Given the description of an element on the screen output the (x, y) to click on. 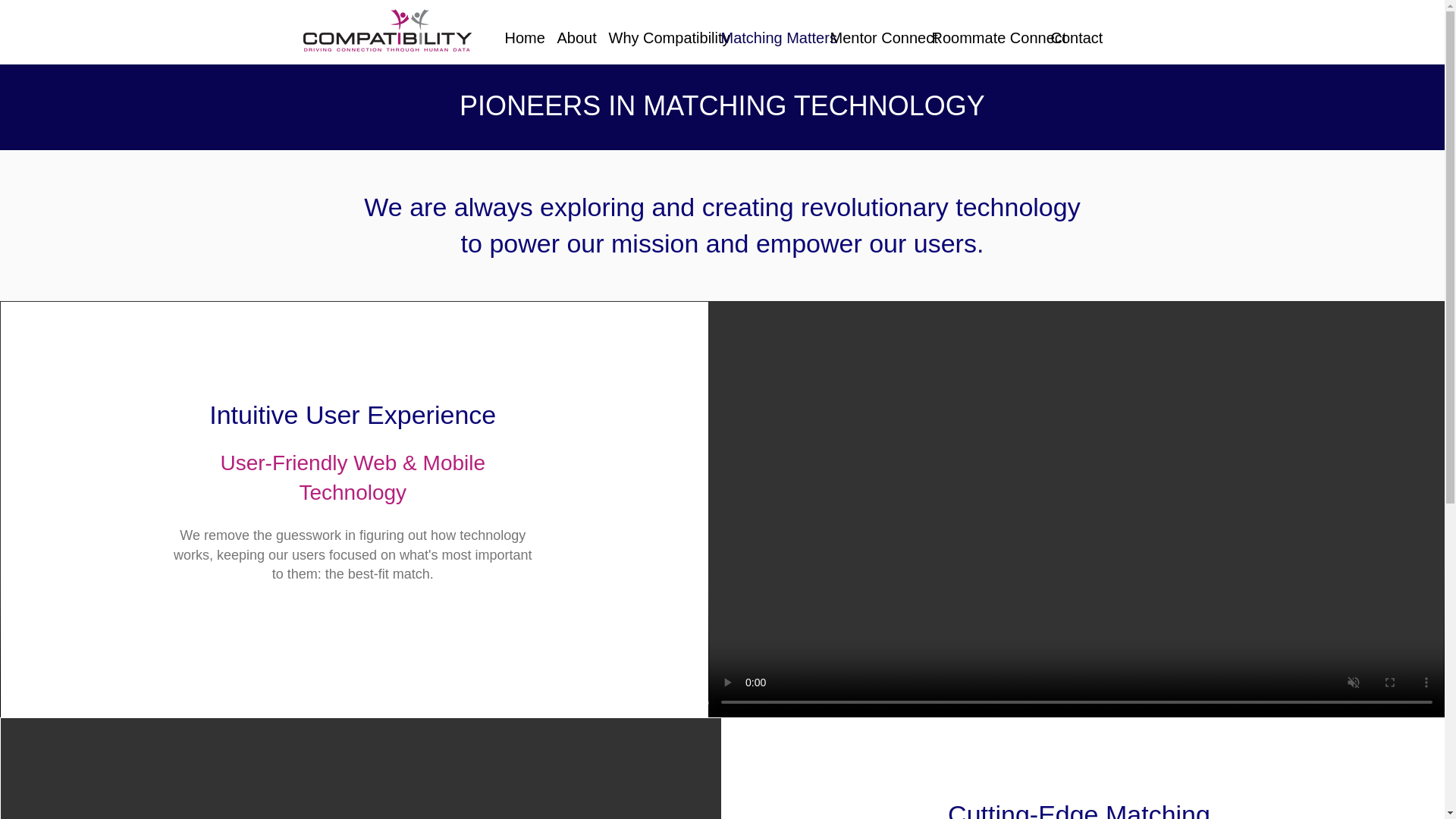
Home (518, 37)
About (571, 37)
Why Compatibility (653, 37)
Roommate Connect (979, 37)
Mentor Connect (869, 37)
Contact (1068, 37)
Matching Matters (764, 37)
